Given the description of an element on the screen output the (x, y) to click on. 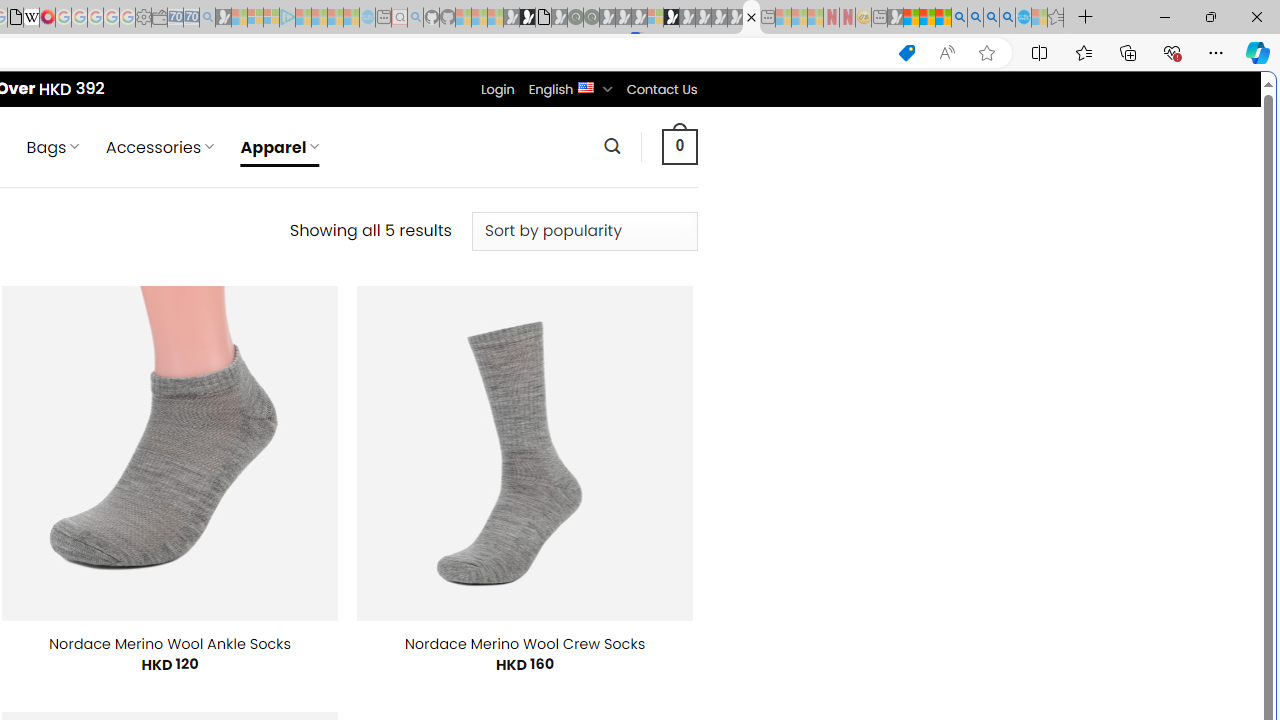
Settings - Sleeping (143, 17)
Login (497, 89)
MediaWiki (47, 17)
Contact Us (661, 89)
Sign in to your account - Sleeping (655, 17)
